Given the description of an element on the screen output the (x, y) to click on. 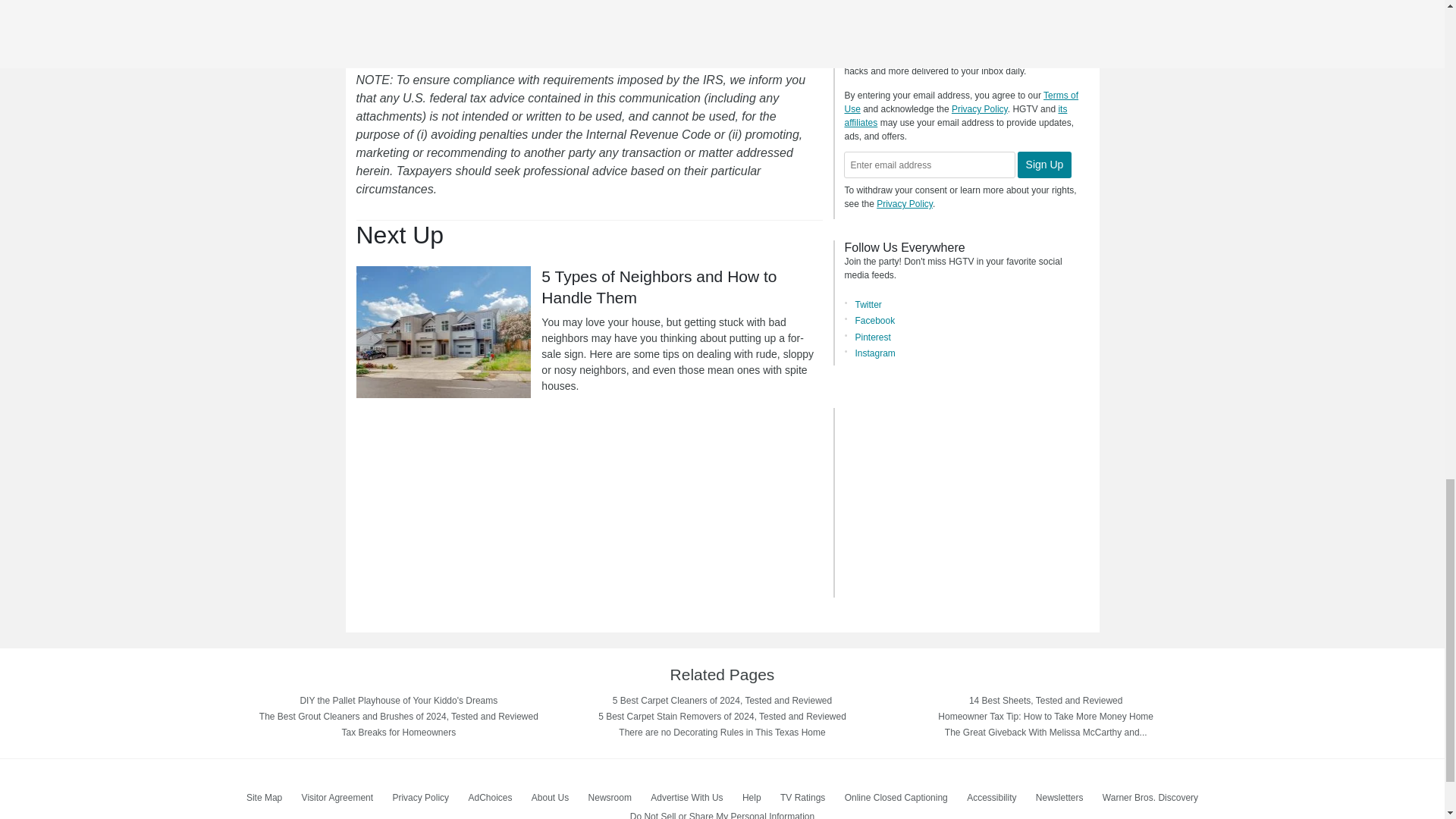
5 Types of Neighbors and How to Handle Them (443, 332)
